Given the description of an element on the screen output the (x, y) to click on. 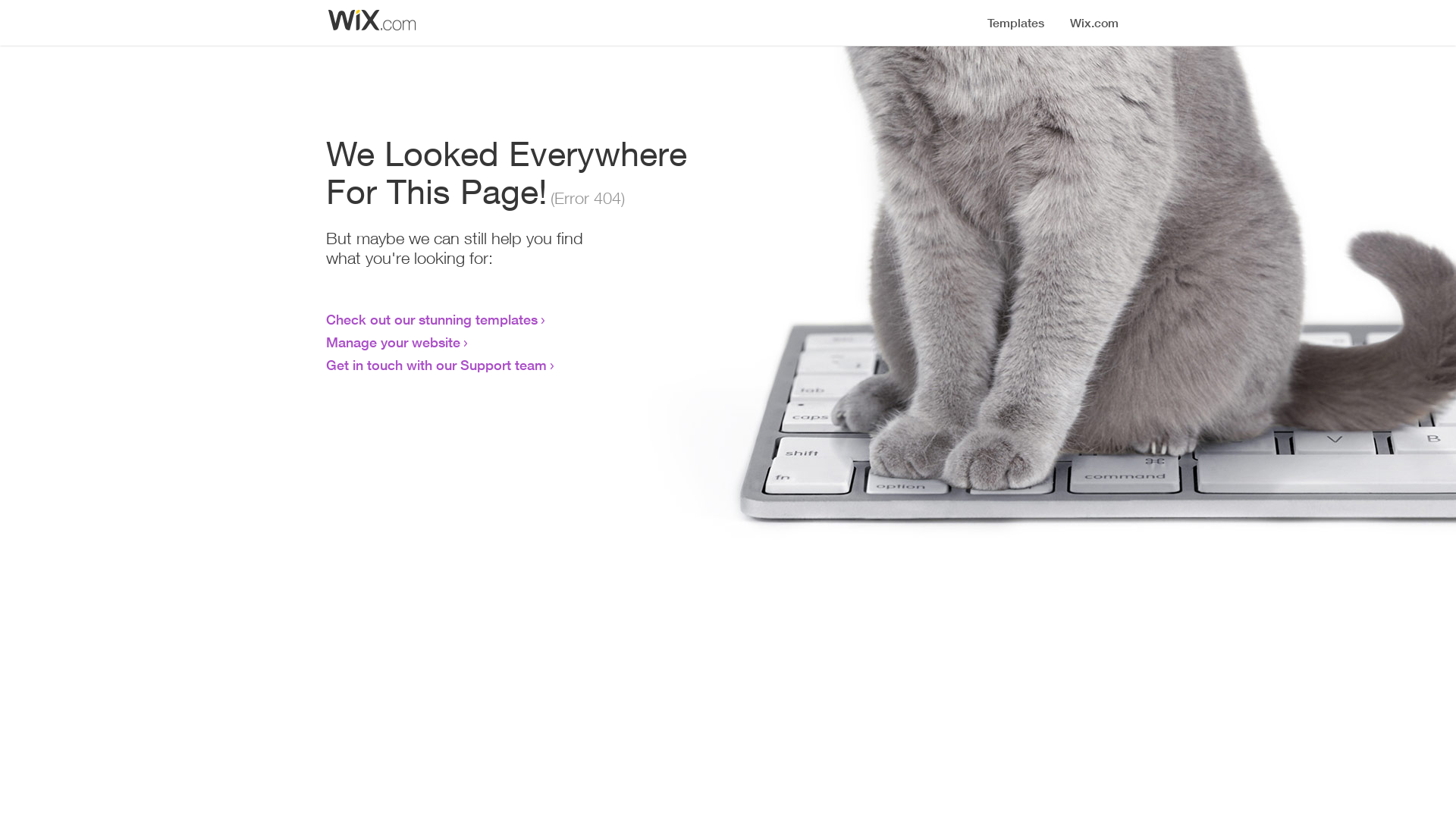
Check out our stunning templates Element type: text (431, 318)
Manage your website Element type: text (393, 341)
Get in touch with our Support team Element type: text (436, 364)
